Given the description of an element on the screen output the (x, y) to click on. 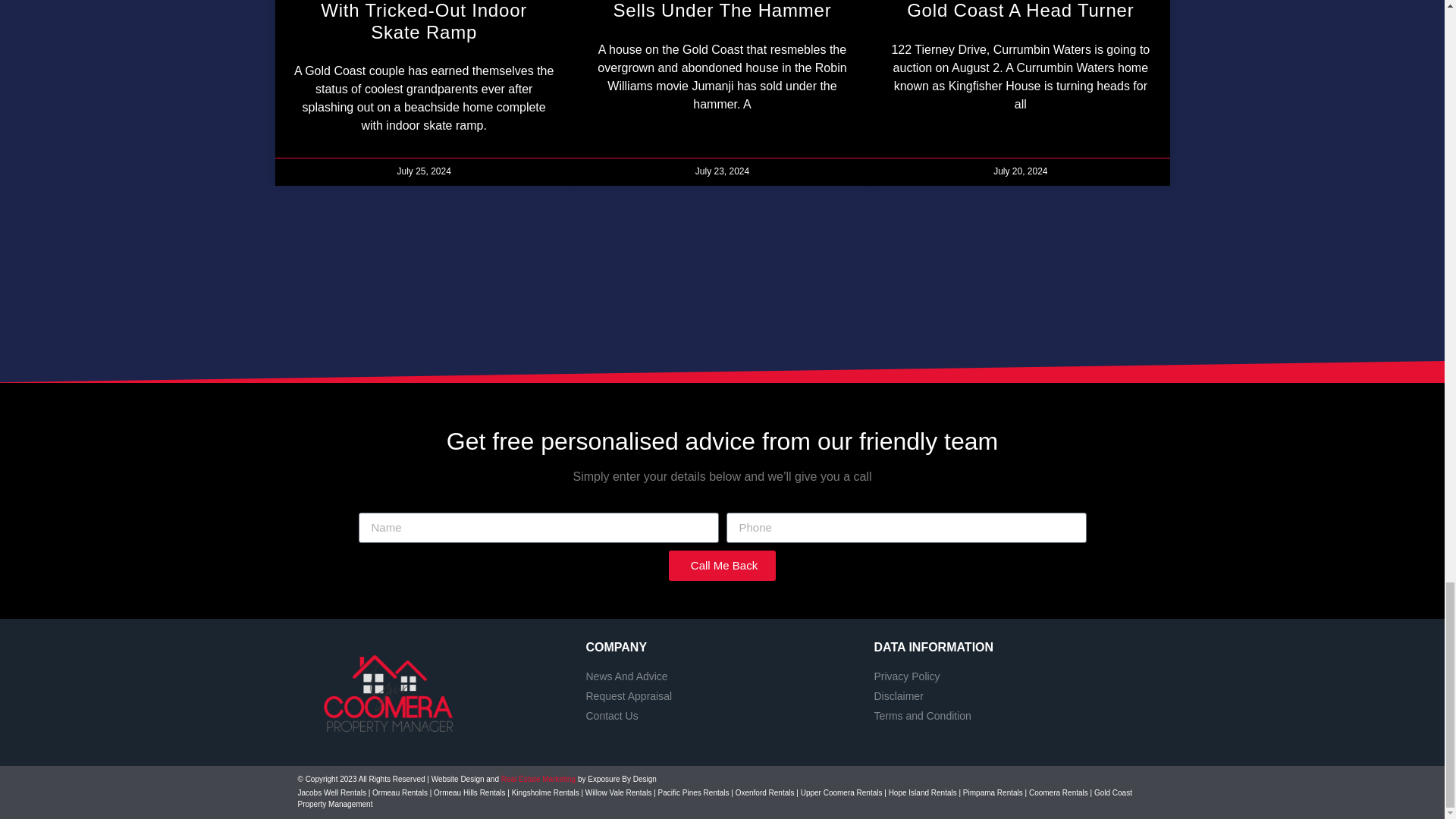
Privacy Policy (1010, 676)
Request Appraisal (722, 696)
Ormeau Rentals (398, 792)
News And Advice (722, 676)
Call Me Back (722, 565)
Eco-Friendly Property On The Gold Coast A Head Turner (1020, 10)
Terms and Condition (1010, 715)
Ormeau Hills Rentals (469, 792)
Disclaimer (1010, 696)
Contact Us (722, 715)
Jacobs Well Rentals (331, 792)
Real Estate Marketing (537, 778)
